Given the description of an element on the screen output the (x, y) to click on. 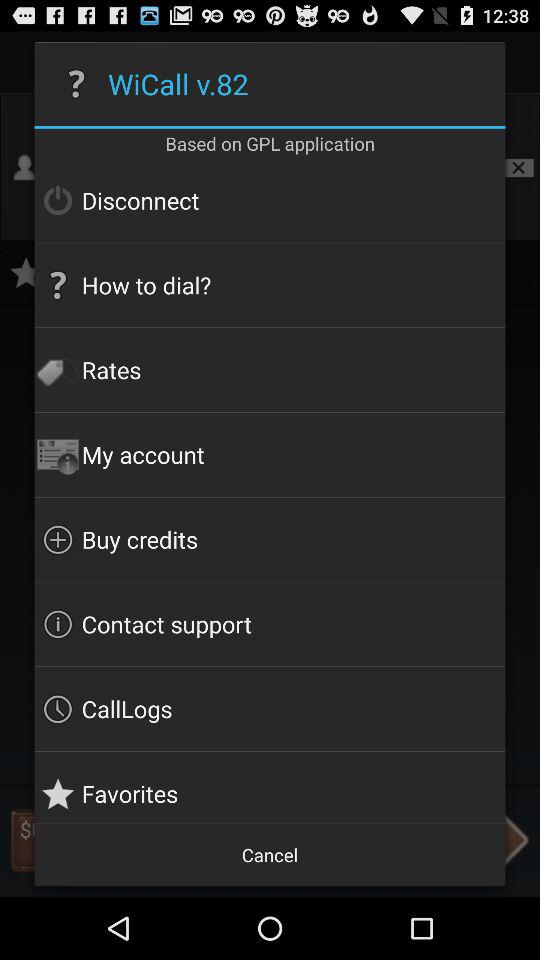
press item above contact support icon (269, 539)
